Given the description of an element on the screen output the (x, y) to click on. 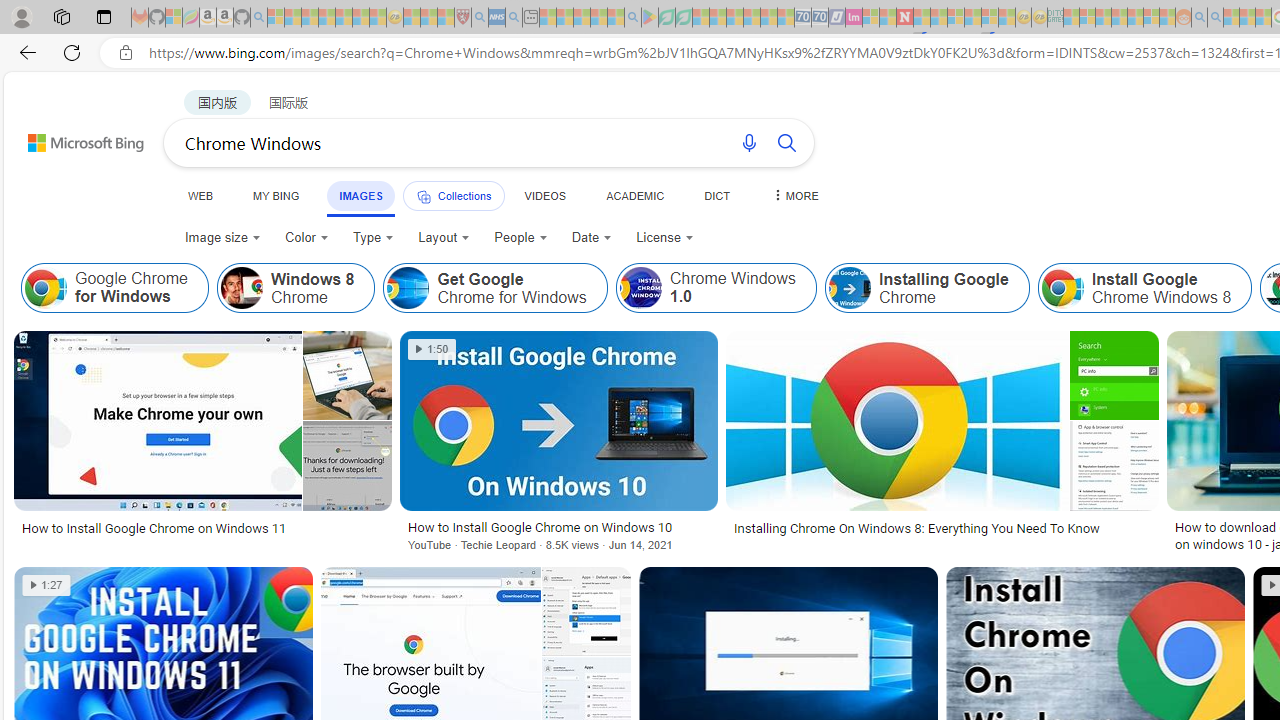
Installing Google Chrome (850, 287)
WEB (201, 195)
How to Install Google Chrome on Windows 11Save (206, 444)
Color (305, 237)
Installing Chrome On Windows 8: Everything You Need To Know (916, 528)
Type (373, 237)
Jobs - lastminute.com Investor Portal - Sleeping (853, 17)
Cheap Hotels - Save70.com - Sleeping (819, 17)
Expert Portfolios - Sleeping (1119, 17)
Date (591, 237)
